Given the description of an element on the screen output the (x, y) to click on. 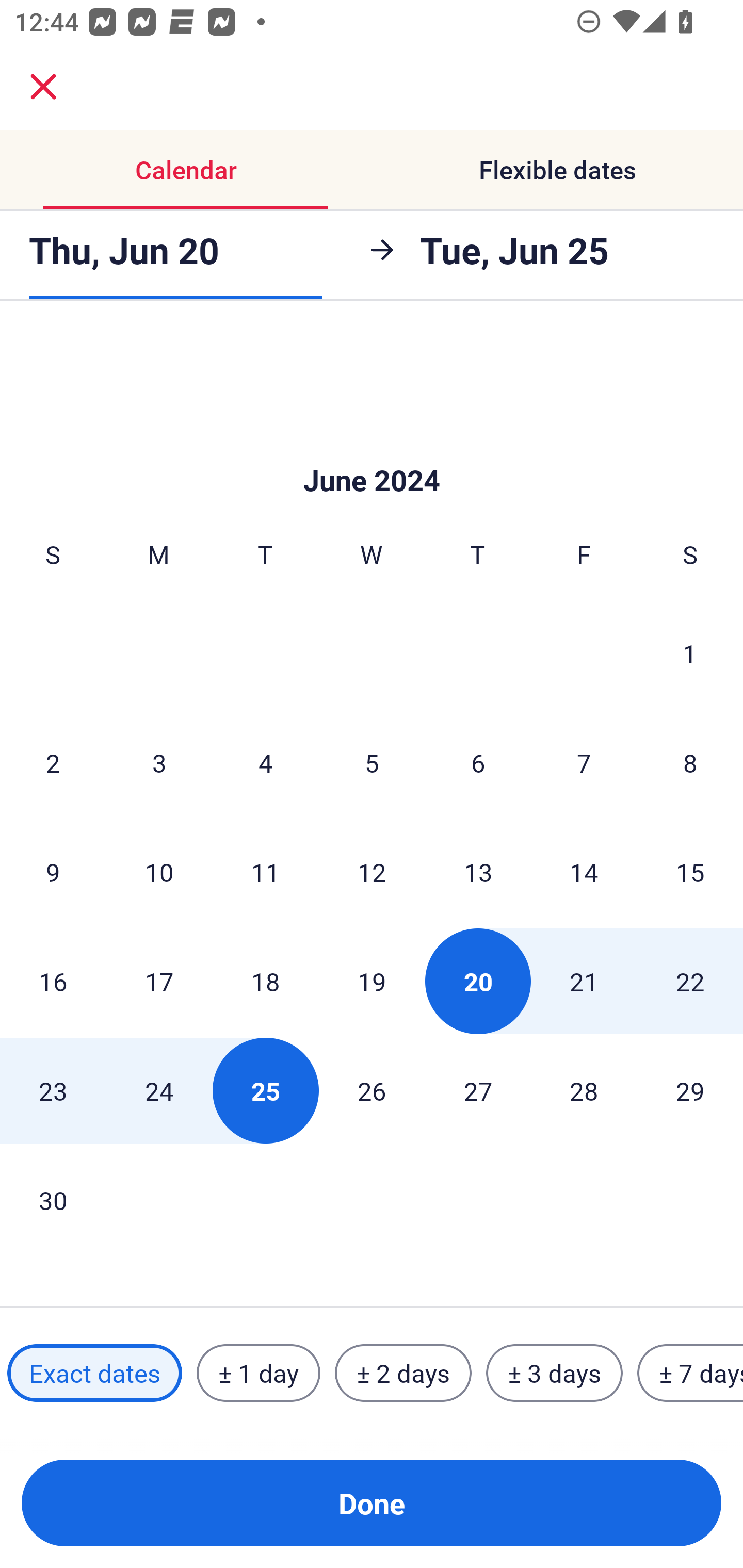
close. (43, 86)
Flexible dates (557, 170)
Skip to Done (371, 449)
1 Saturday, June 1, 2024 (689, 652)
2 Sunday, June 2, 2024 (53, 762)
3 Monday, June 3, 2024 (159, 762)
4 Tuesday, June 4, 2024 (265, 762)
5 Wednesday, June 5, 2024 (371, 762)
6 Thursday, June 6, 2024 (477, 762)
7 Friday, June 7, 2024 (584, 762)
8 Saturday, June 8, 2024 (690, 762)
9 Sunday, June 9, 2024 (53, 871)
10 Monday, June 10, 2024 (159, 871)
11 Tuesday, June 11, 2024 (265, 871)
12 Wednesday, June 12, 2024 (371, 871)
13 Thursday, June 13, 2024 (477, 871)
14 Friday, June 14, 2024 (584, 871)
15 Saturday, June 15, 2024 (690, 871)
16 Sunday, June 16, 2024 (53, 981)
17 Monday, June 17, 2024 (159, 981)
18 Tuesday, June 18, 2024 (265, 981)
19 Wednesday, June 19, 2024 (371, 981)
26 Wednesday, June 26, 2024 (371, 1090)
27 Thursday, June 27, 2024 (477, 1090)
28 Friday, June 28, 2024 (584, 1090)
29 Saturday, June 29, 2024 (690, 1090)
30 Sunday, June 30, 2024 (53, 1199)
Exact dates (94, 1372)
± 1 day (258, 1372)
± 2 days (403, 1372)
± 3 days (553, 1372)
± 7 days (690, 1372)
Done (371, 1502)
